Given the description of an element on the screen output the (x, y) to click on. 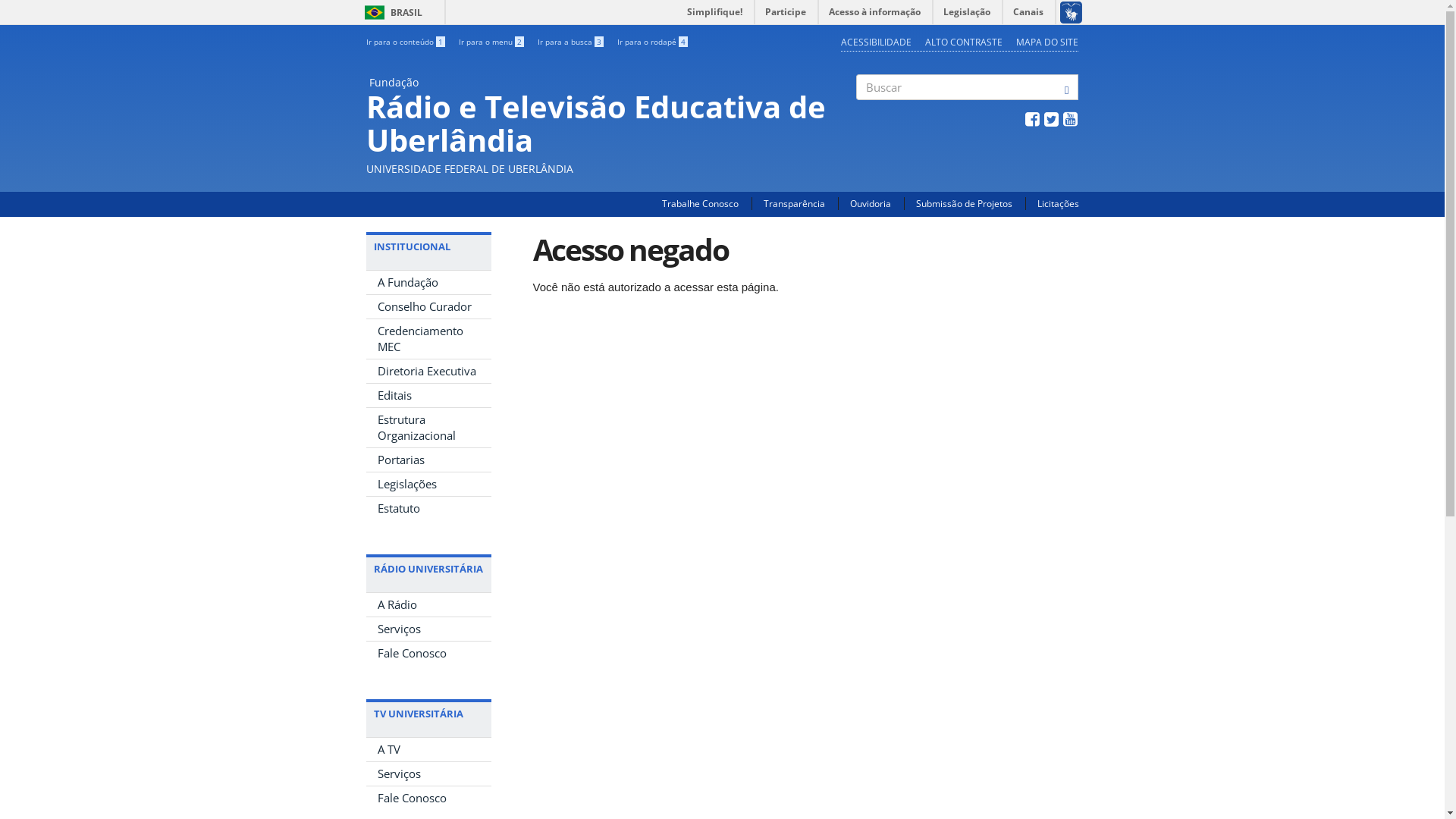
A TV Element type: text (427, 749)
Estrutura Organizacional Element type: text (427, 427)
Trabalhe Conosco Element type: text (699, 203)
Credenciamento MEC Element type: text (427, 338)
BRASIL Element type: text (373, 12)
ALTO CONTRASTE Element type: text (963, 41)
Ir para o menu 2 Element type: text (490, 41)
Estatuto Element type: text (427, 508)
Conselho Curador Element type: text (427, 306)
Editais Element type: text (427, 395)
MAPA DO SITE Element type: text (1047, 41)
ACESSIBILIDADE Element type: text (875, 41)
Portarias Element type: text (427, 459)
Fale Conosco Element type: text (427, 797)
Fale Conosco Element type: text (427, 653)
Ouvidoria Element type: text (869, 203)
Buscar Element type: text (856, 112)
Ir para a busca 3 Element type: text (569, 41)
Diretoria Executiva Element type: text (427, 370)
